Given the description of an element on the screen output the (x, y) to click on. 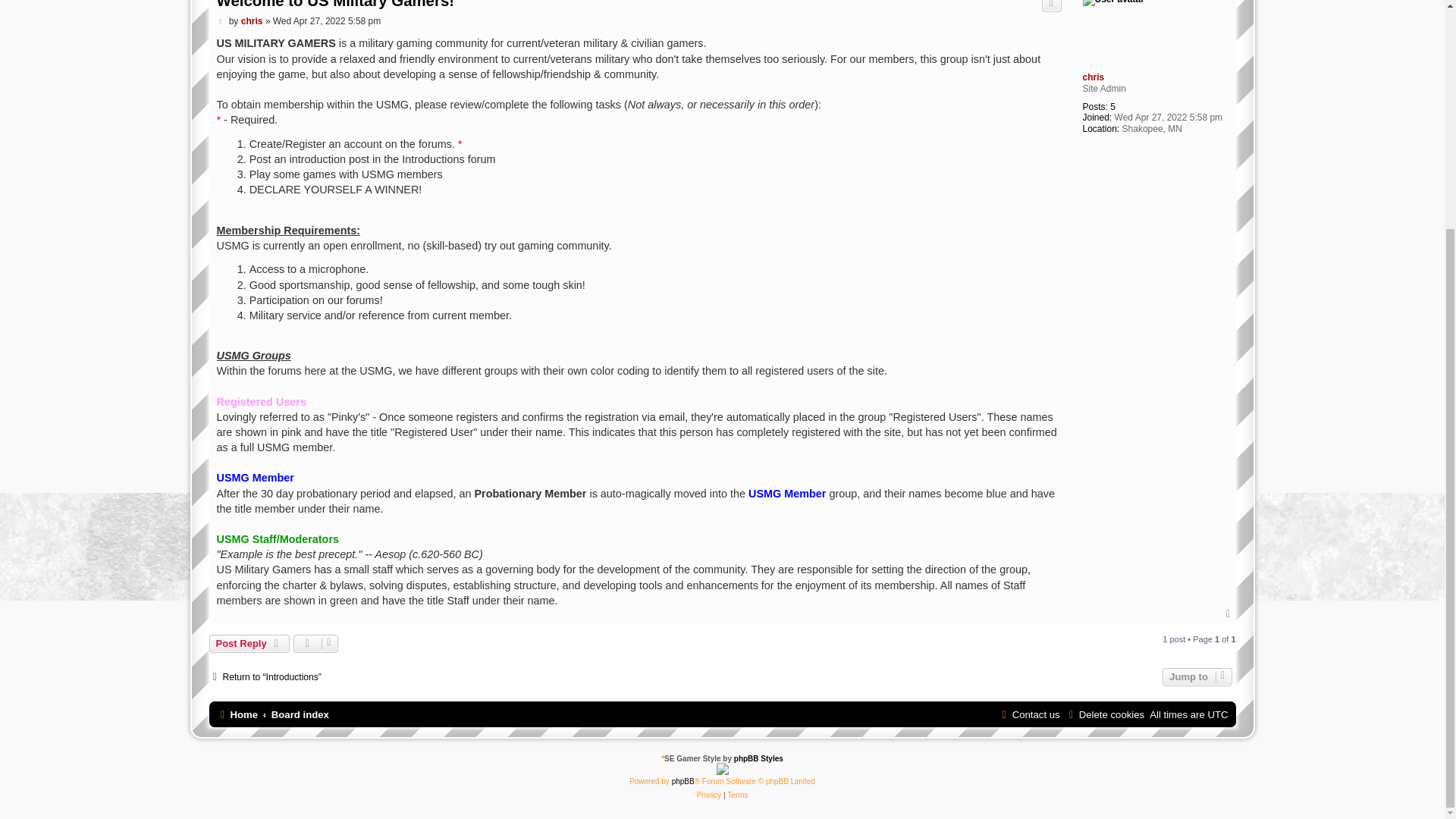
Post a reply (249, 643)
Quote (1051, 6)
Post (221, 20)
Post Reply (249, 643)
Welcome to US Military Gamers! (335, 5)
chris (252, 20)
Top (1229, 614)
chris (1094, 77)
Reply with quote (1051, 6)
Post (221, 20)
